Given the description of an element on the screen output the (x, y) to click on. 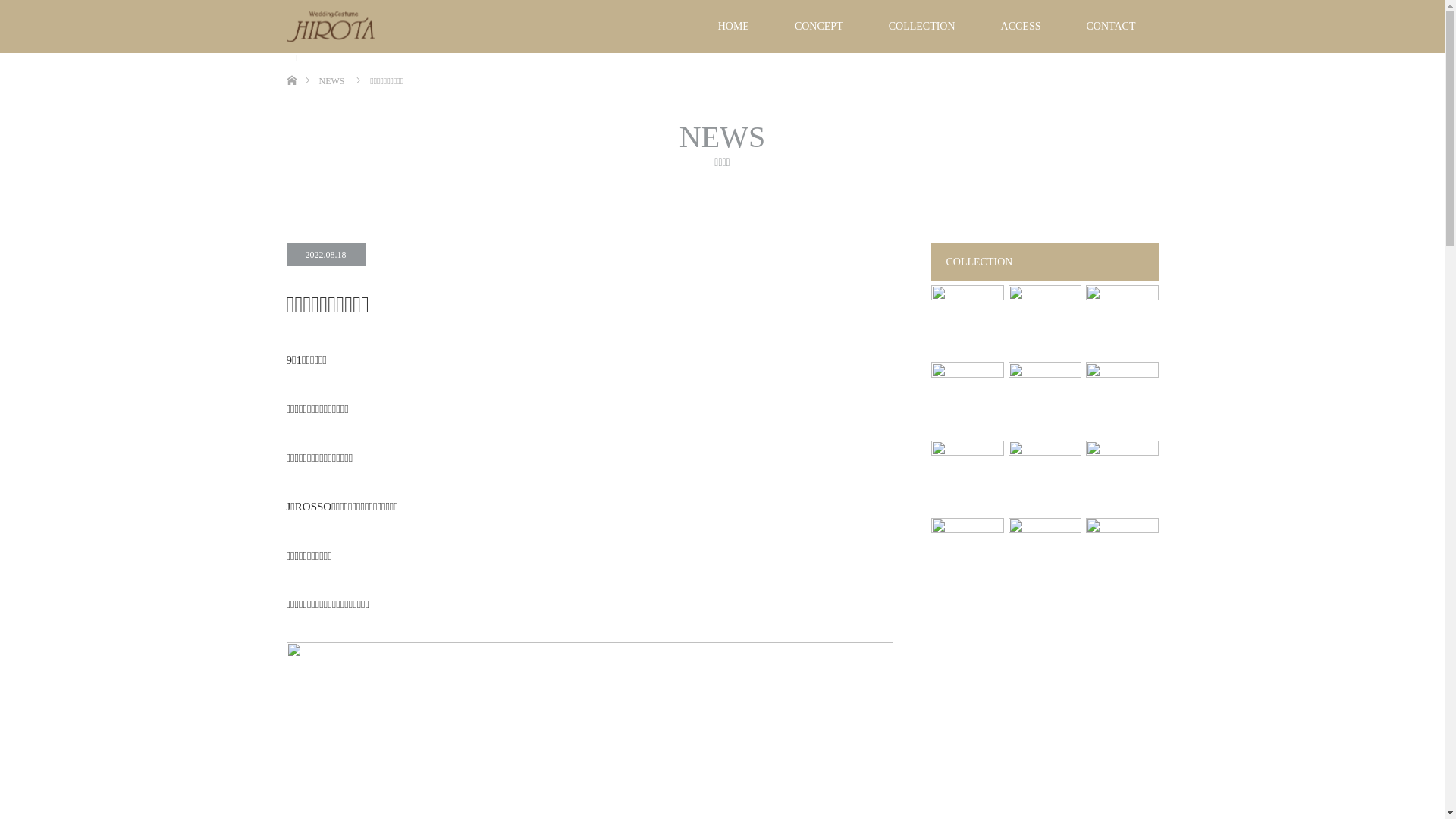
NEWS Element type: text (331, 80)
ACCESS Element type: text (1020, 26)
CONCEPT Element type: text (818, 26)
CONTACT Element type: text (1110, 26)
COLLECTION Element type: text (922, 26)
HOME Element type: text (733, 26)
